Given the description of an element on the screen output the (x, y) to click on. 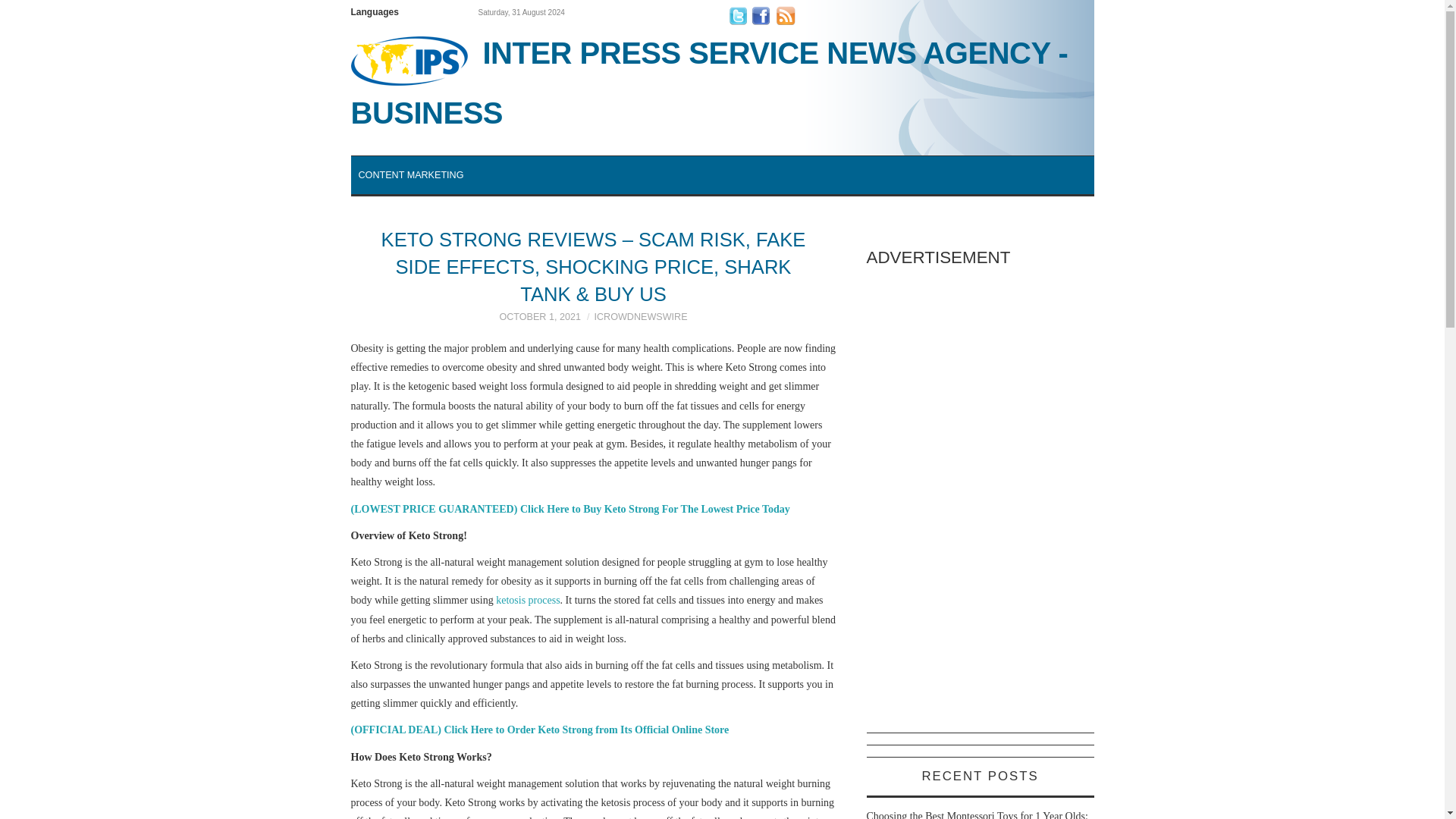
INTER PRESS SERVICE NEWS AGENCY - BUSINESS (721, 82)
CONTENT MARKETING (410, 175)
OCTOBER 1, 2021 (539, 317)
ICROWDNEWSWIRE (640, 317)
Business (721, 82)
ketosis process (527, 600)
